Given the description of an element on the screen output the (x, y) to click on. 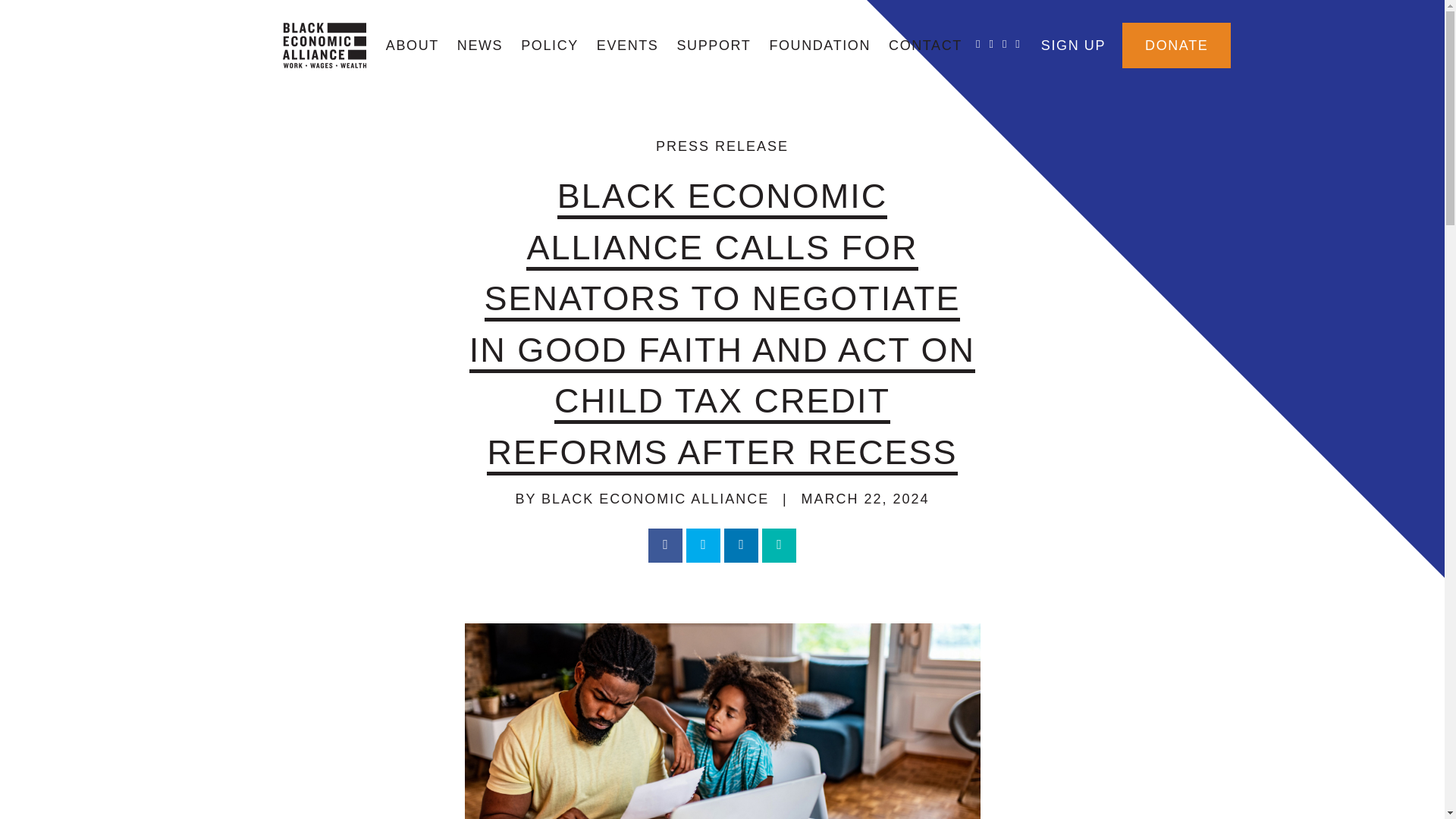
Black Economic Alliance (323, 44)
DONATE (1176, 44)
NEWS (480, 45)
ABOUT (412, 45)
FOUNDATION (819, 45)
POLICY (550, 45)
SIGN UP (1073, 45)
SUPPORT (713, 45)
CONTACT (925, 45)
EVENTS (628, 45)
